Given the description of an element on the screen output the (x, y) to click on. 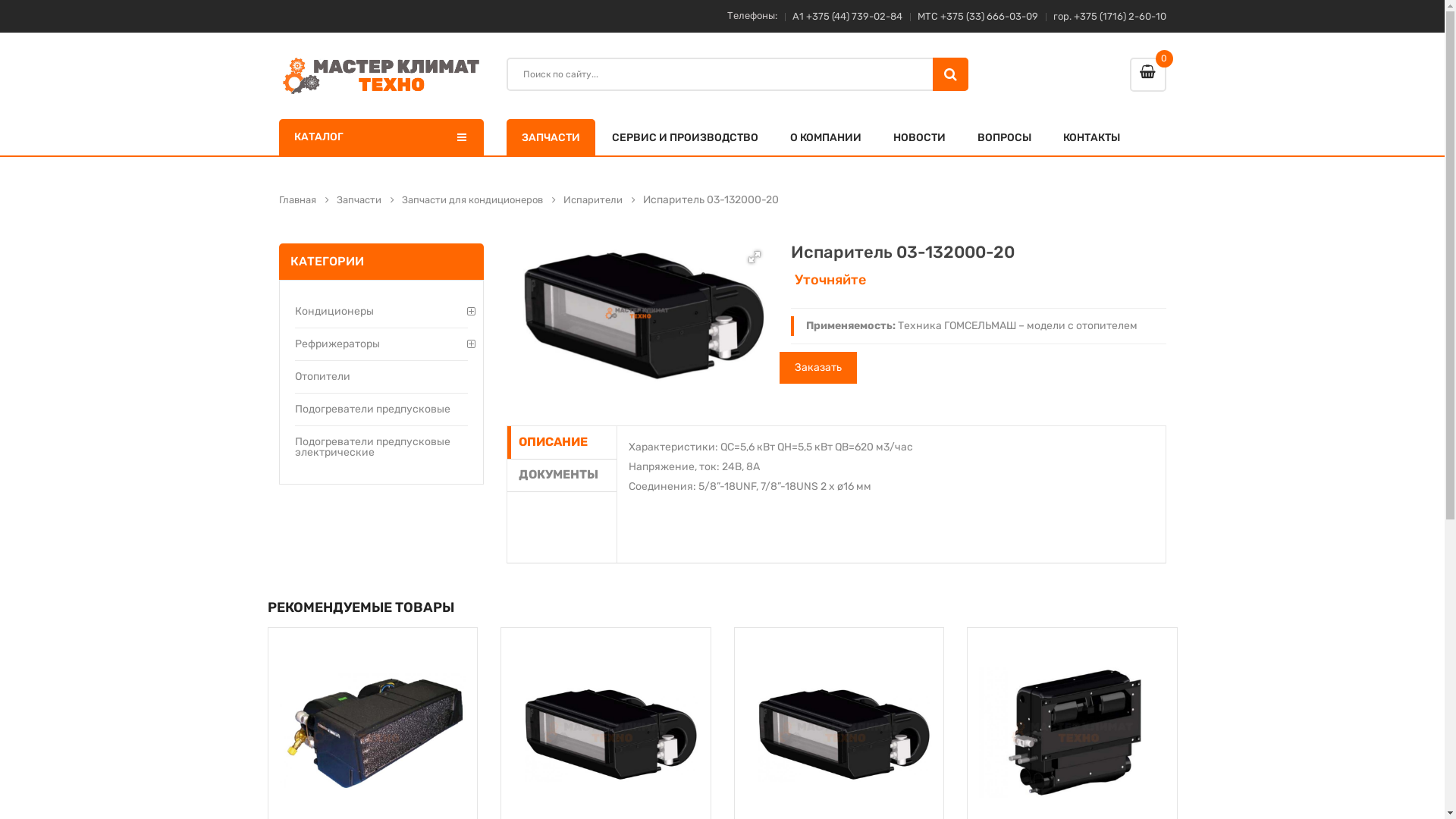
0 Element type: text (1147, 74)
